Given the description of an element on the screen output the (x, y) to click on. 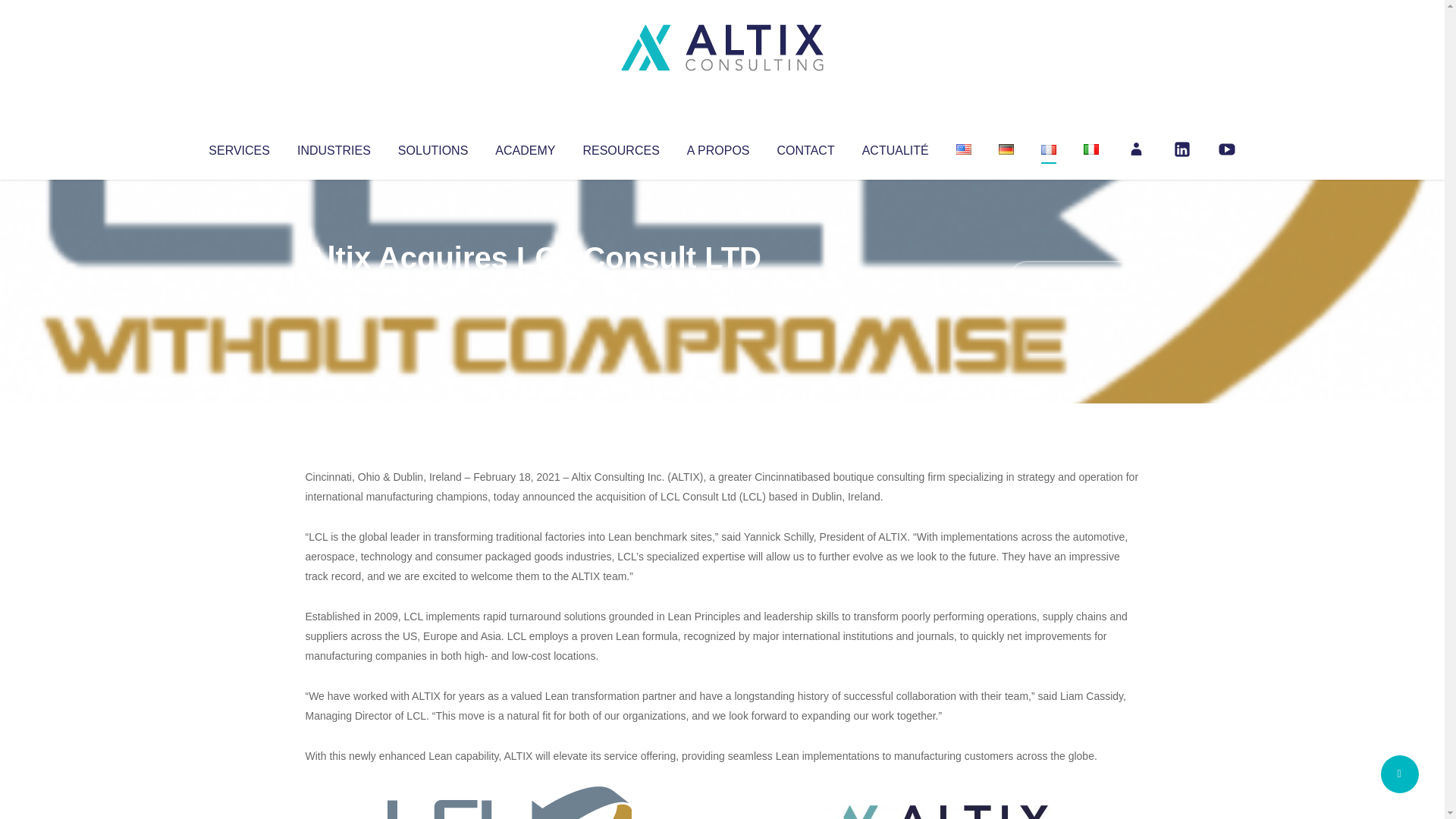
Uncategorized (530, 287)
No Comments (1073, 278)
A PROPOS (718, 146)
INDUSTRIES (334, 146)
RESOURCES (620, 146)
Altix (333, 287)
ACADEMY (524, 146)
Articles par Altix (333, 287)
SOLUTIONS (432, 146)
SERVICES (238, 146)
